Given the description of an element on the screen output the (x, y) to click on. 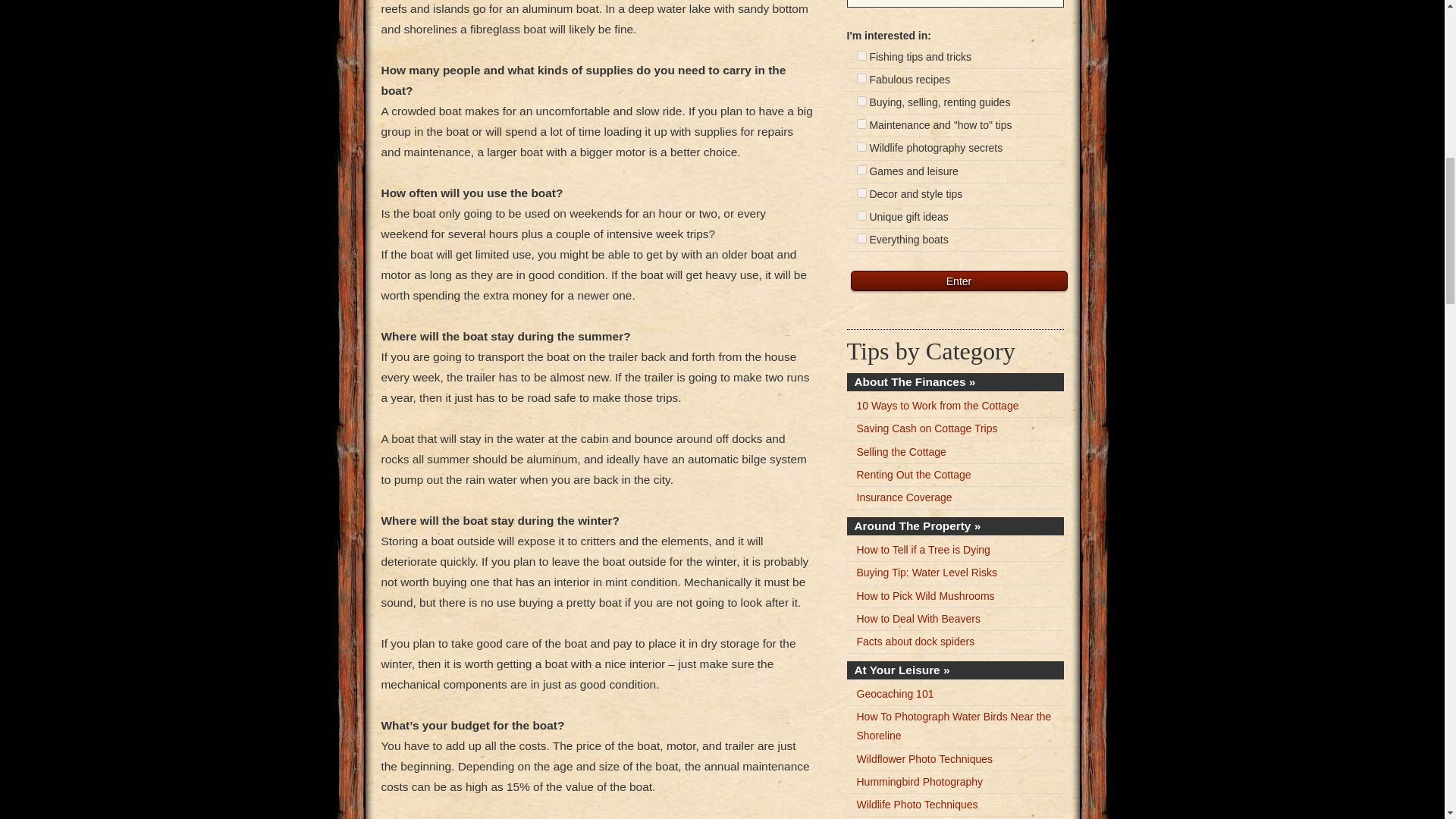
How To Photograph Water Birds Near the Shoreline (954, 726)
Renting Out the Cottage (914, 474)
64 (861, 193)
Geocaching 101 (895, 693)
Hummingbird Photography (920, 781)
16 (861, 146)
32 (861, 170)
Buying Tip: Water Level Risks (927, 572)
2 (861, 78)
Insurance Coverage (904, 497)
